Given the description of an element on the screen output the (x, y) to click on. 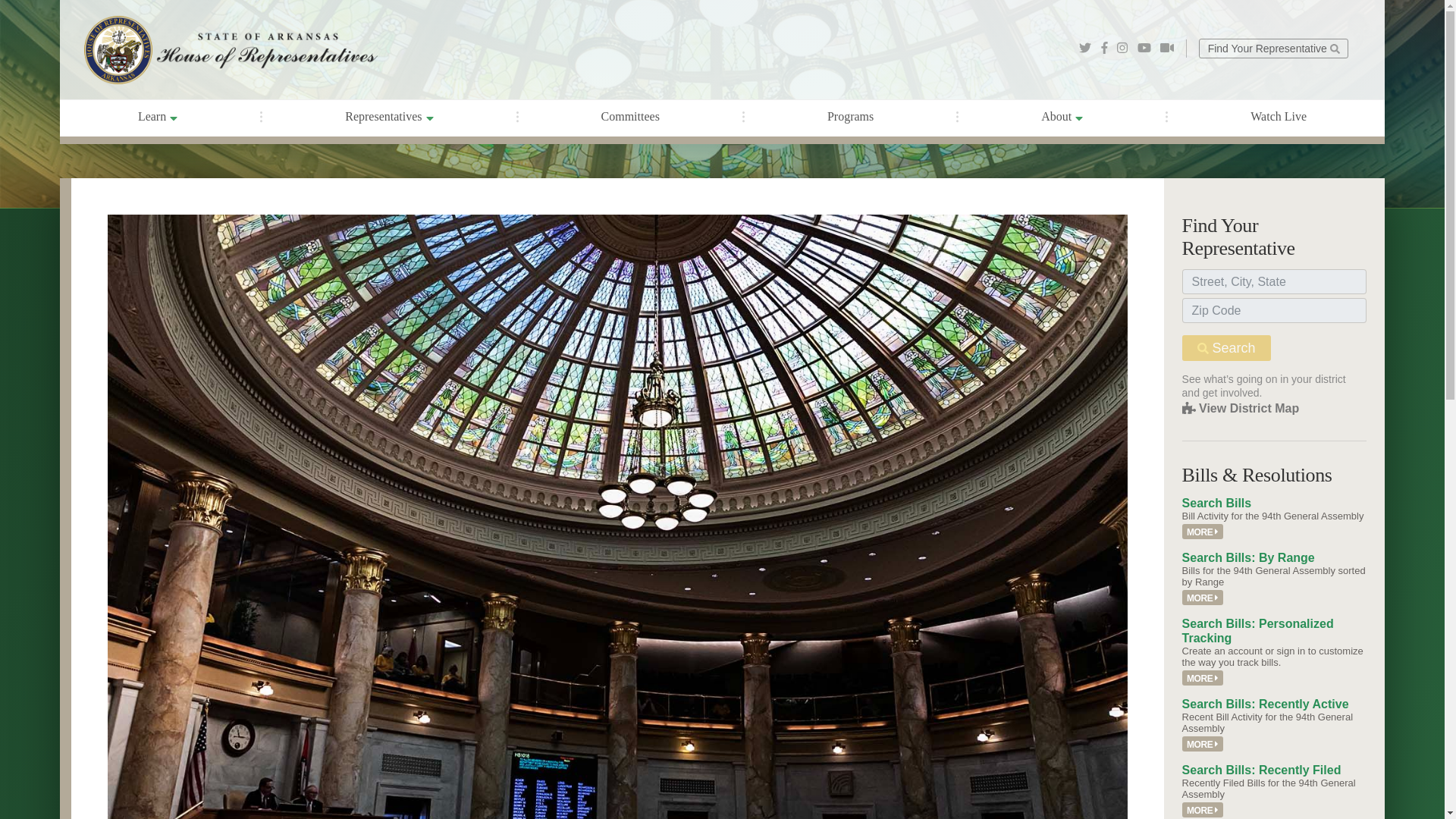
View District Map (1241, 408)
MORE (1203, 744)
Permalink (1203, 744)
Representatives (388, 118)
Permalink (1203, 678)
Find Your Representative (1273, 47)
Permalink (1203, 531)
MORE (1203, 678)
About (1061, 118)
Programs (850, 117)
Watch Live (1277, 117)
MORE (1203, 597)
Permalink (1203, 597)
Committees (630, 117)
Learn (157, 118)
